Given the description of an element on the screen output the (x, y) to click on. 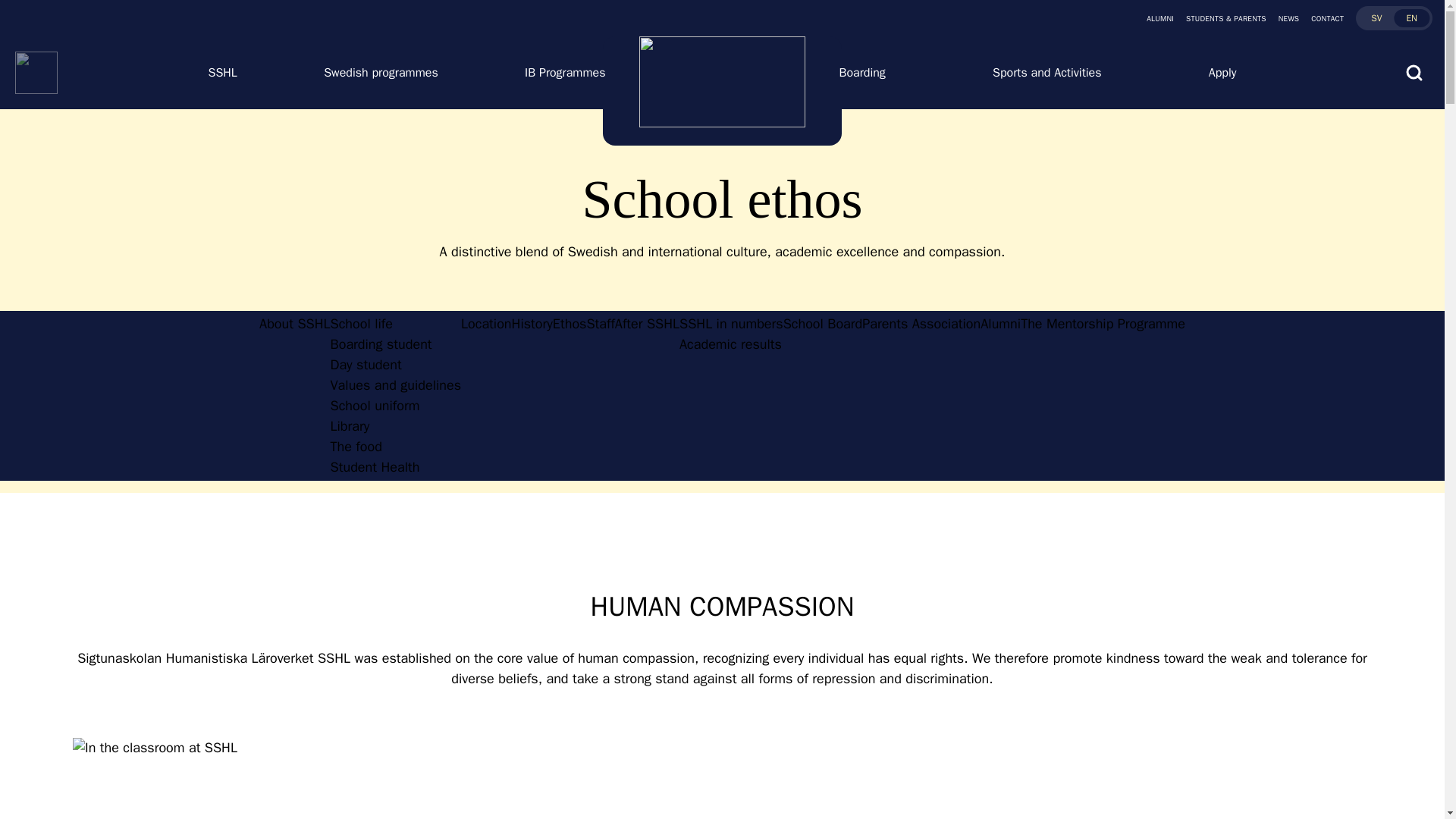
IB Programmes (564, 72)
NEWS (1283, 18)
SSHL (222, 72)
CONTACT (1320, 18)
Swedish programmes (380, 72)
ALUMNI (1393, 17)
